Given the description of an element on the screen output the (x, y) to click on. 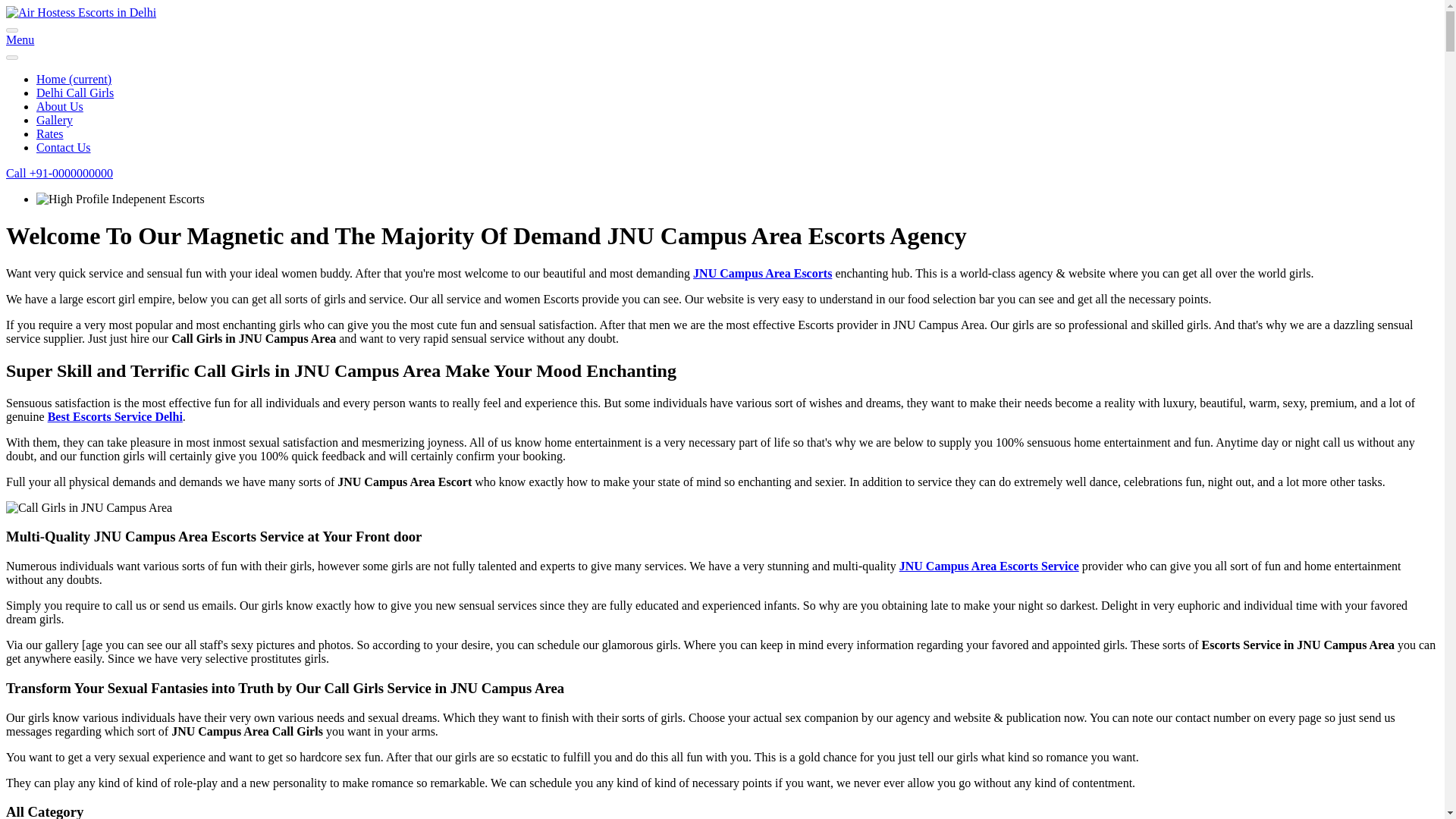
About Us (59, 106)
Menu (19, 39)
Rates (50, 133)
JNU Campus Area Escorts (762, 273)
JNU Campus Area Escorts Service (988, 565)
Gallery (54, 119)
Contact Us (63, 146)
JNU Campus Area Escorts Service (988, 565)
Delhi Call Girls (74, 92)
Best Escorts Service Delhi (115, 416)
JNU Campus Area Escorts (762, 273)
